Given the description of an element on the screen output the (x, y) to click on. 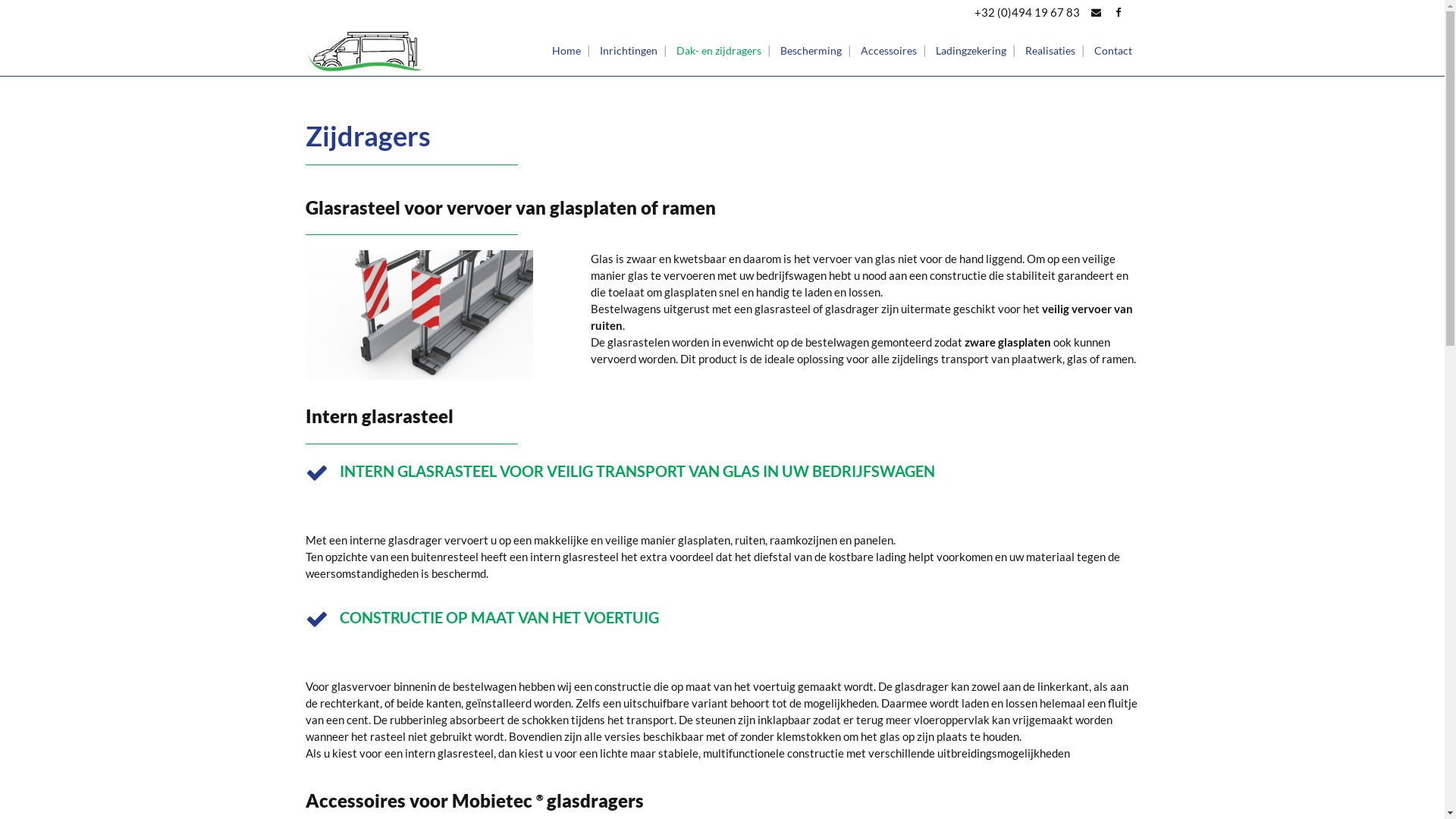
Ladingzekering Element type: text (970, 50)
Home Element type: text (566, 50)
Accessoires Element type: text (887, 50)
Inrichtingen Element type: text (627, 50)
Glasrasteel voor vervoer van ramen of glasplaten Element type: hover (418, 314)
Dak- en zijdragers Element type: text (718, 50)
Realisaties Element type: text (1049, 50)
Bescherming Element type: text (809, 50)
Contact Element type: text (1112, 50)
